Given the description of an element on the screen output the (x, y) to click on. 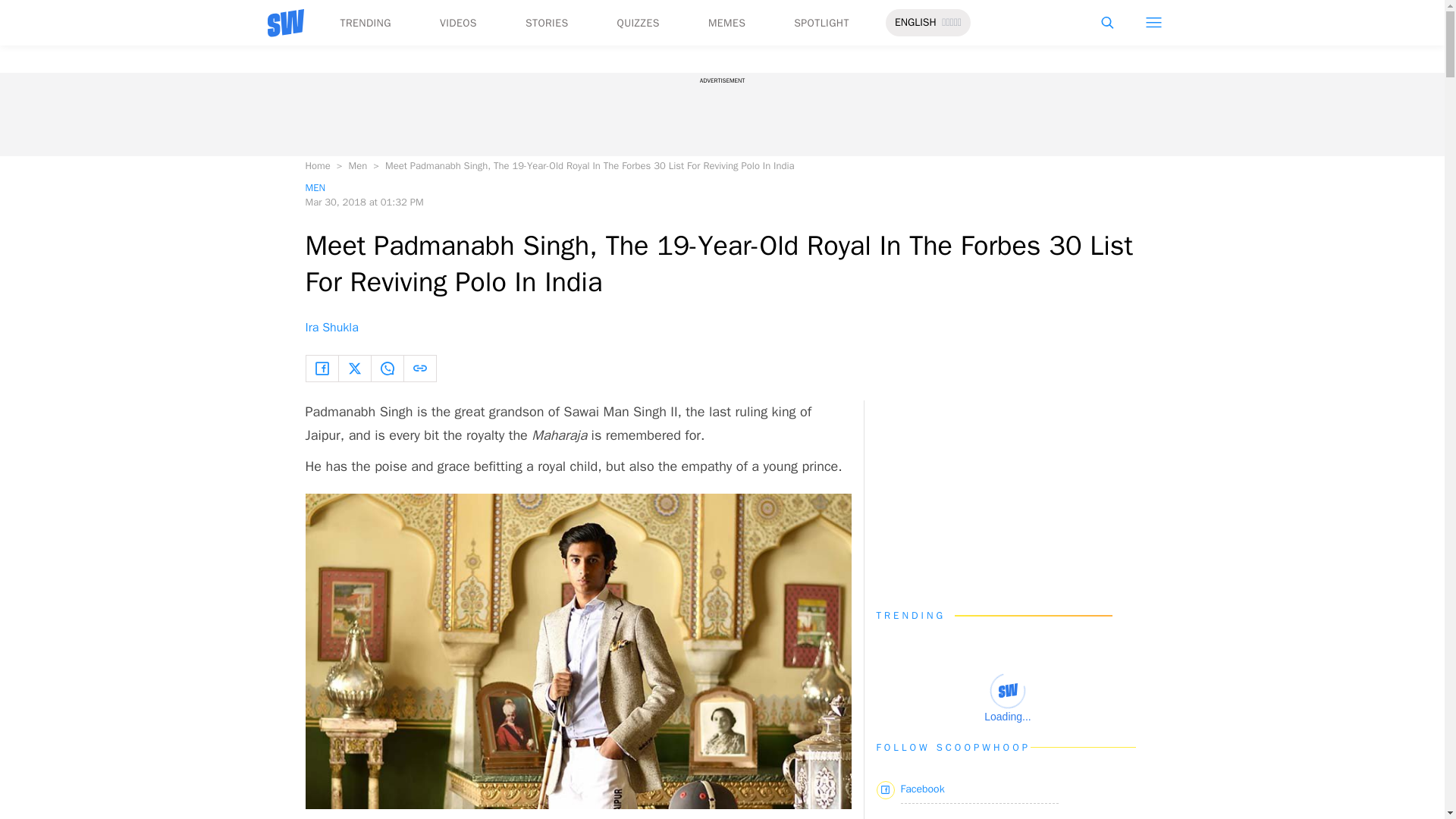
MEMES (726, 22)
STORIES (547, 22)
VIDEOS (458, 22)
ENGLISH (915, 22)
QUIZZES (638, 22)
TRENDING (364, 22)
SPOTLIGHT (820, 22)
